Given the description of an element on the screen output the (x, y) to click on. 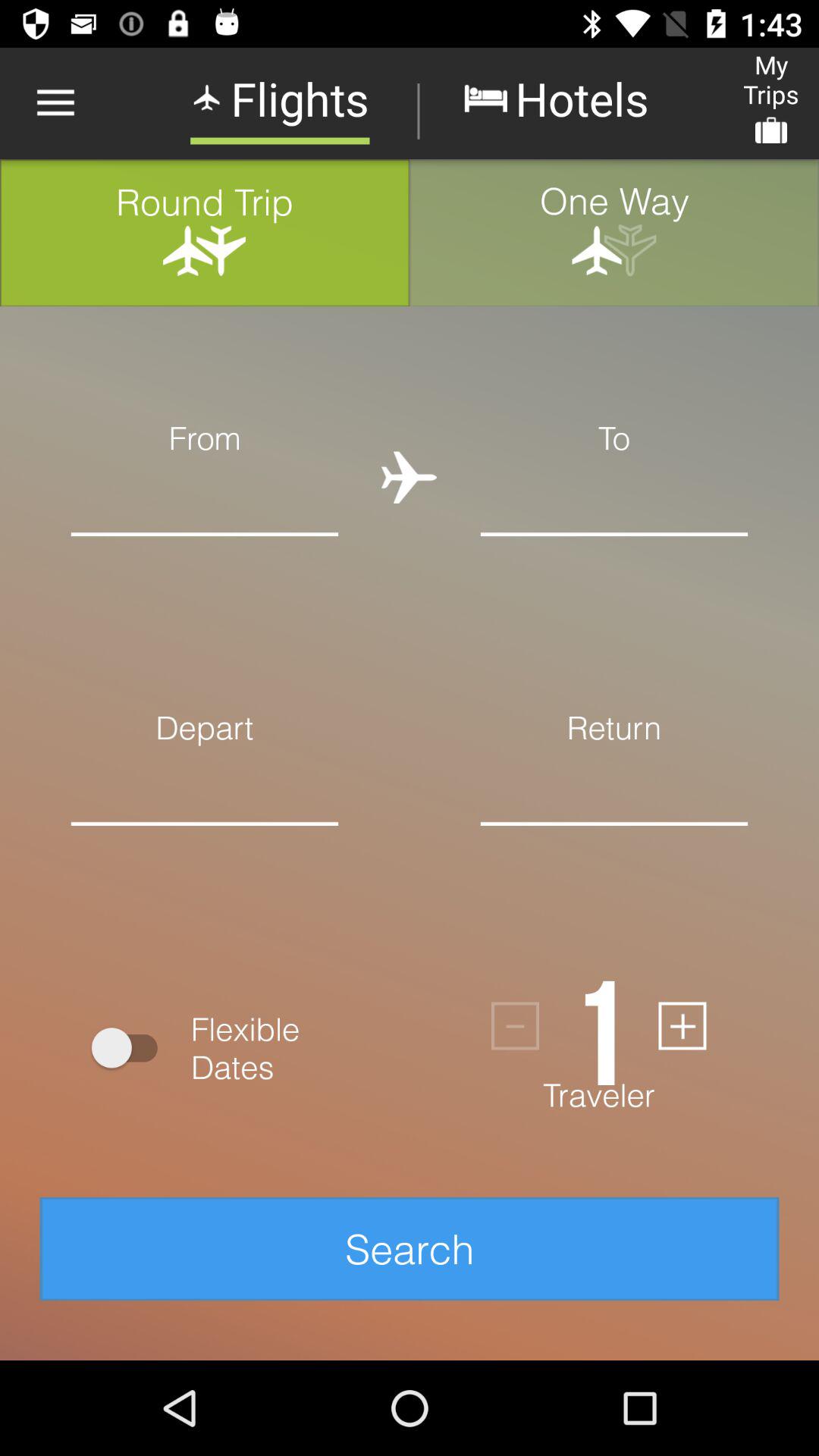
select icon above traveler (515, 1025)
